Given the description of an element on the screen output the (x, y) to click on. 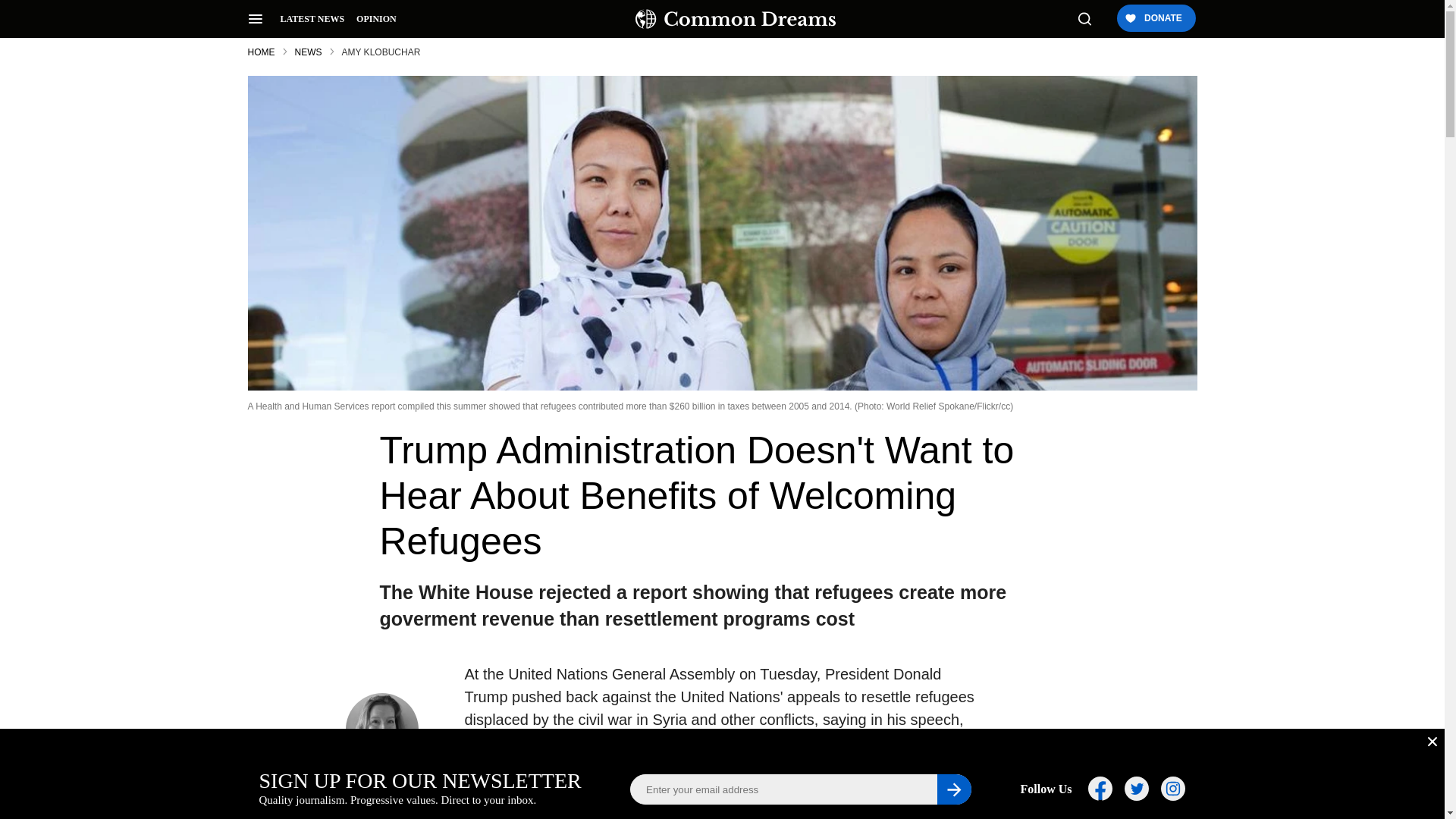
Donate Button (1154, 19)
OPINION (376, 18)
Common Dreams (734, 17)
LATEST NEWS (313, 18)
